Given the description of an element on the screen output the (x, y) to click on. 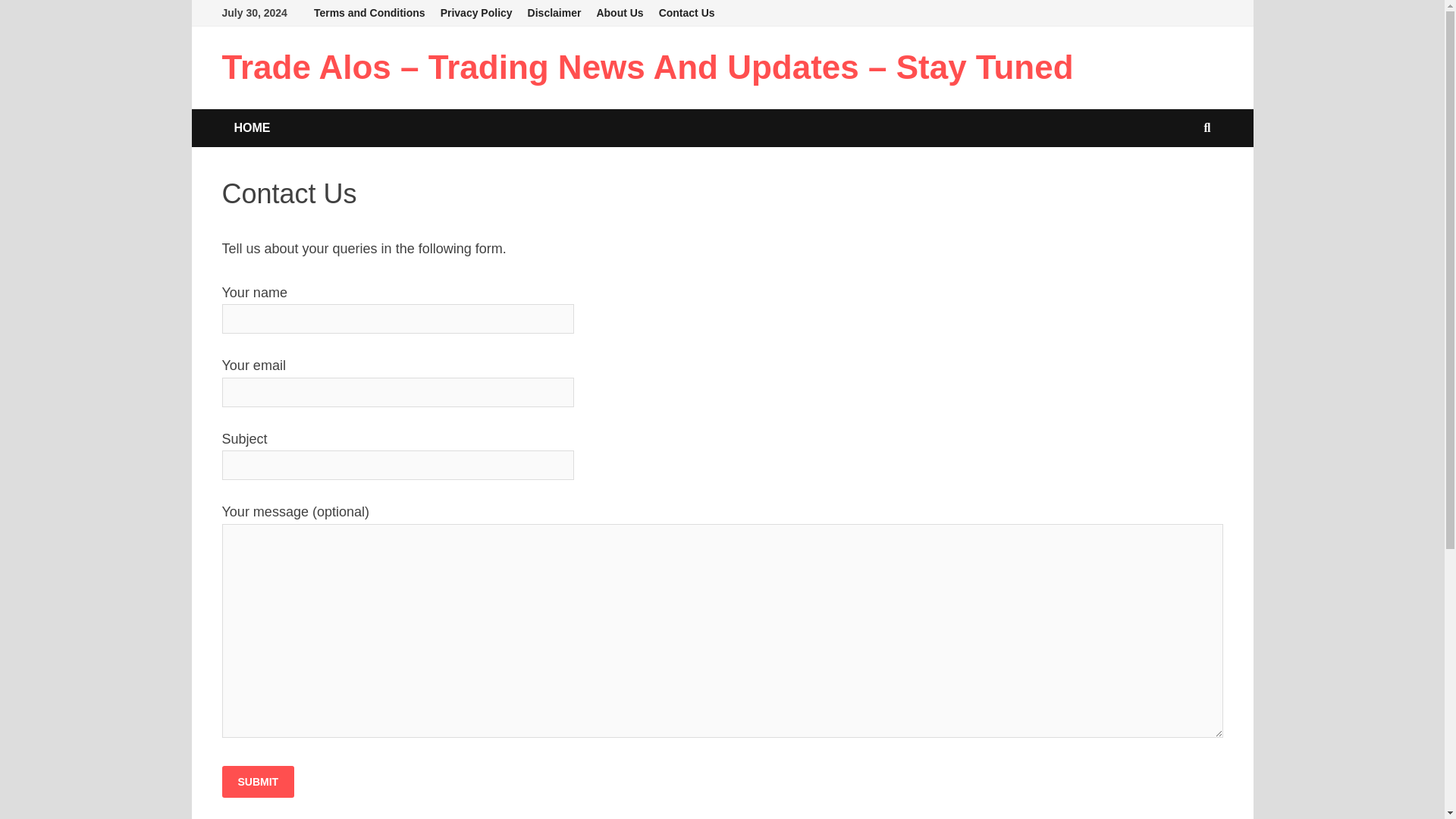
Disclaimer (554, 13)
HOME (251, 127)
About Us (619, 13)
Contact Us (686, 13)
Submit (257, 781)
Privacy Policy (475, 13)
Terms and Conditions (368, 13)
Submit (257, 781)
